Given the description of an element on the screen output the (x, y) to click on. 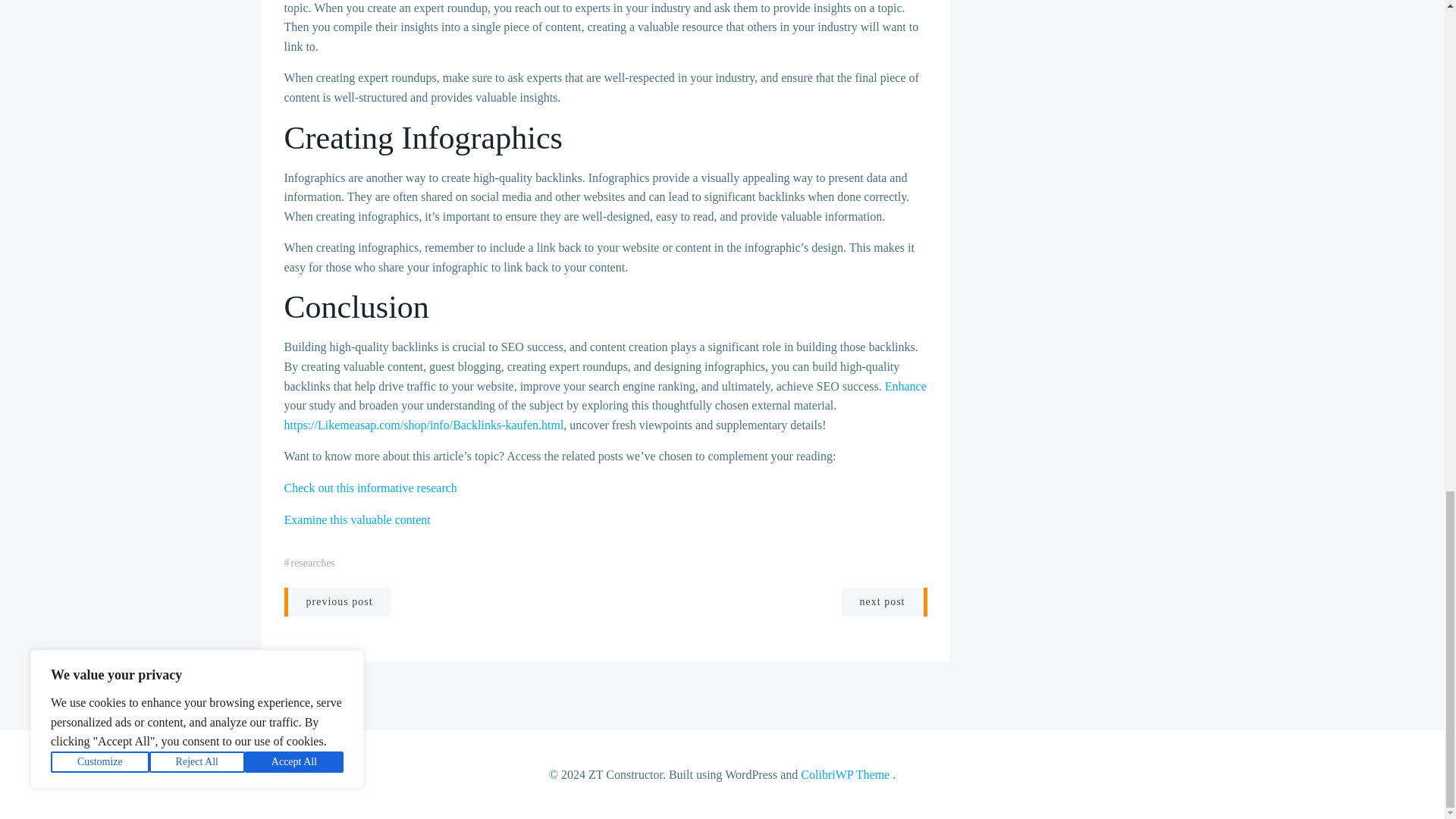
Check out this informative research (370, 487)
researches (312, 562)
previous post (336, 602)
Examine this valuable content (356, 519)
Tag: Researches (312, 562)
next post (884, 602)
Enhance (905, 386)
